Given the description of an element on the screen output the (x, y) to click on. 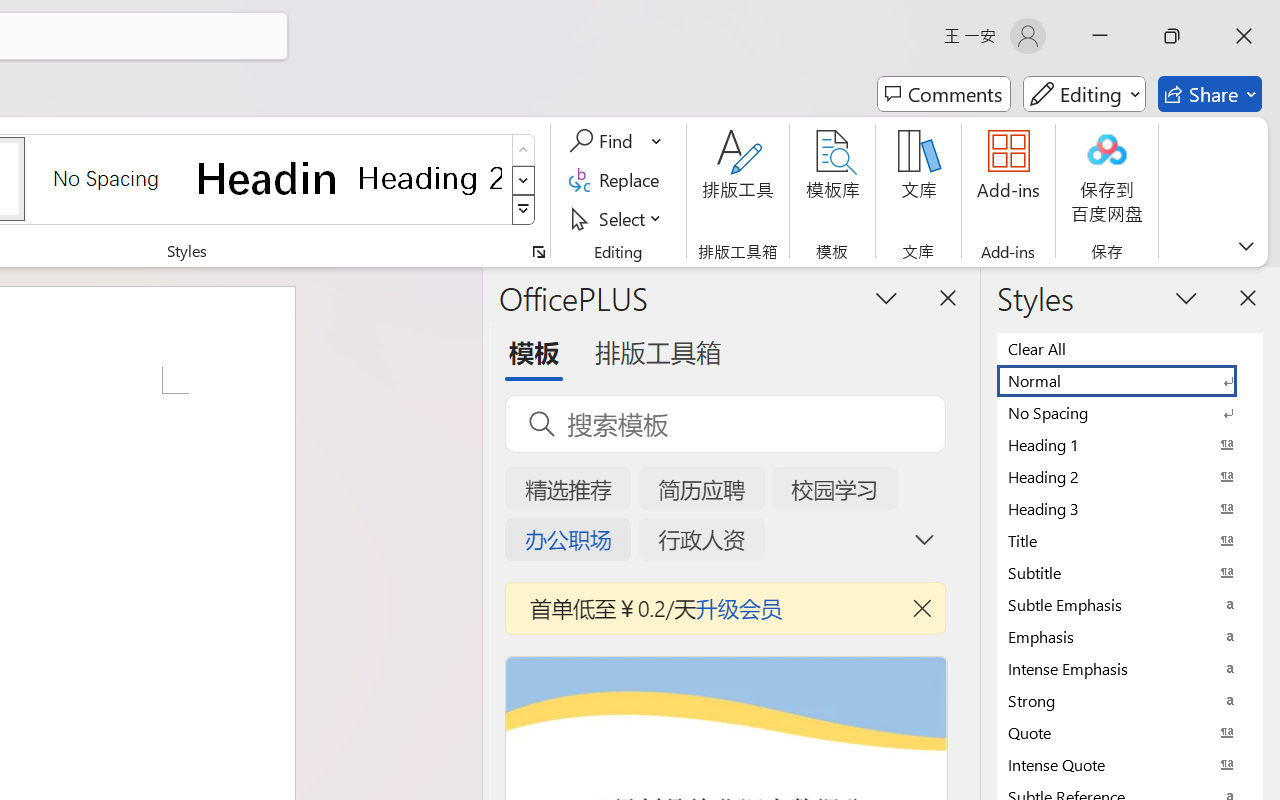
Restore Down (1172, 36)
Mode (1083, 94)
Subtle Emphasis (1130, 604)
Comments (943, 94)
Subtitle (1130, 572)
Replace... (617, 179)
Share (1210, 94)
Task Pane Options (886, 297)
Clear All (1130, 348)
Title (1130, 540)
